Given the description of an element on the screen output the (x, y) to click on. 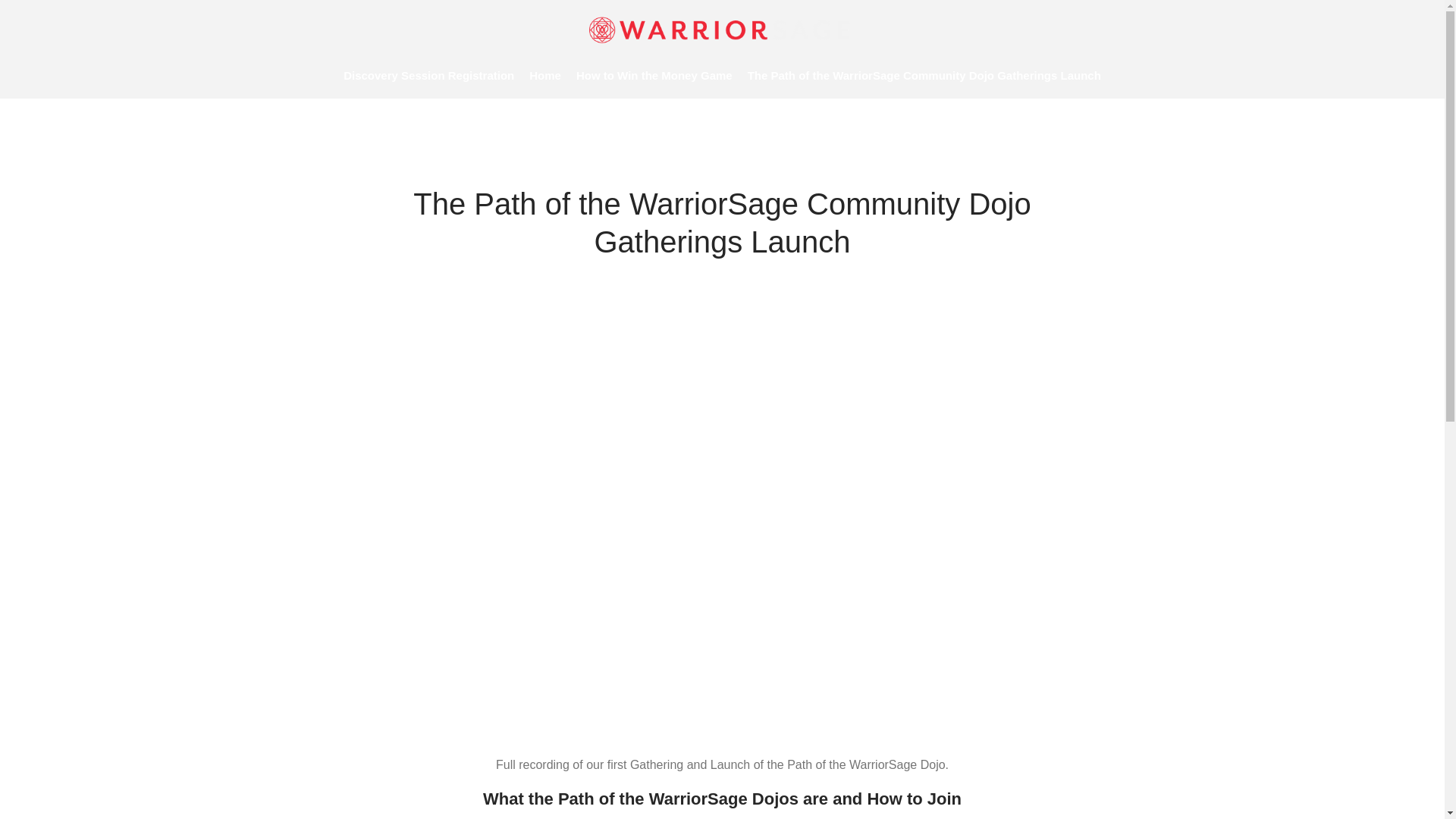
The Path of the WarriorSage Community Dojo Gatherings Launch (924, 75)
Discovery Session Registration (428, 75)
Home (544, 75)
WarriorSage (625, 61)
How to Win the Money Game (654, 75)
